Given the description of an element on the screen output the (x, y) to click on. 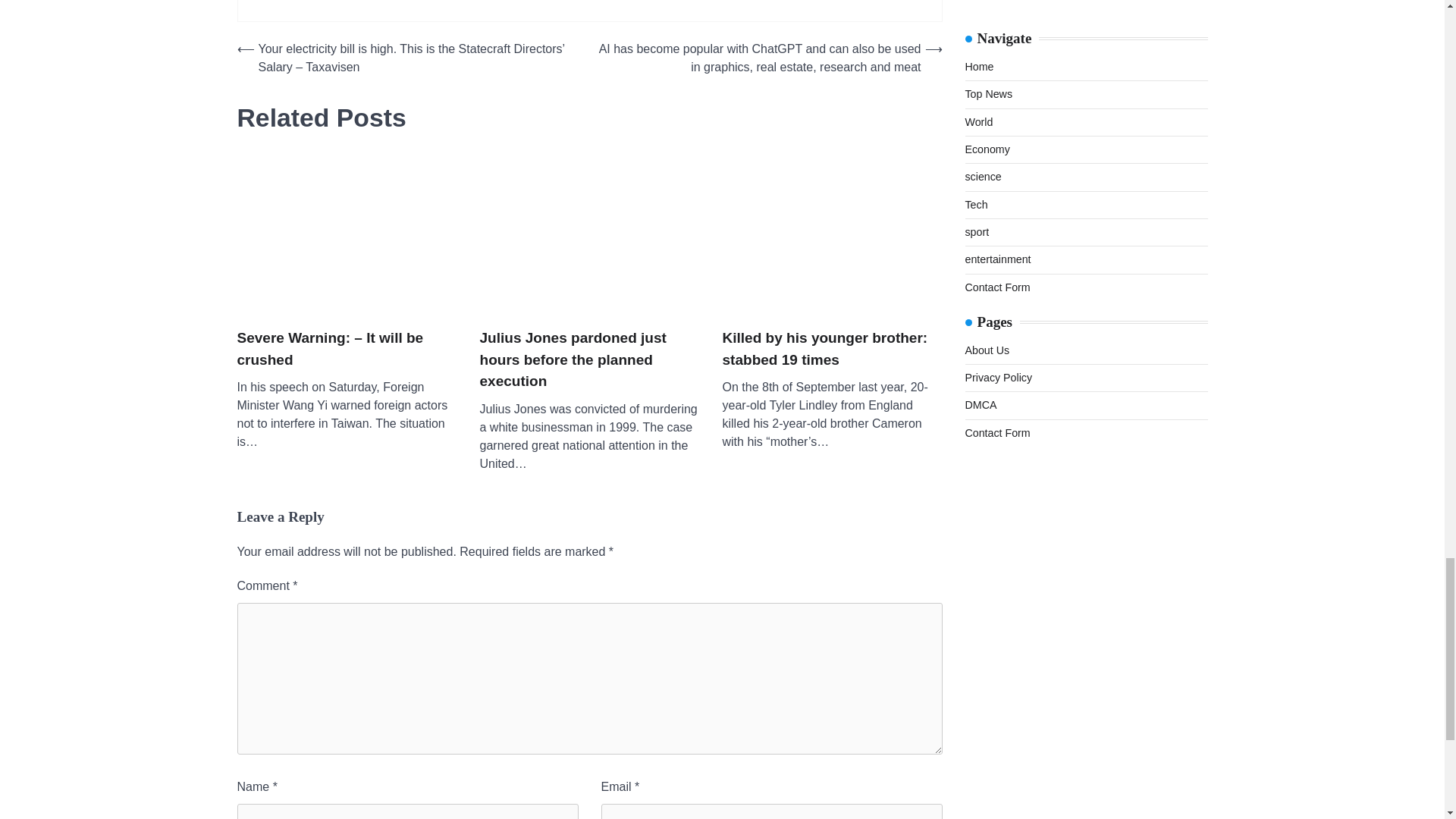
Killed by his younger brother: stabbed 19 times (832, 235)
Killed by his younger brother: stabbed 19 times (832, 349)
